Given the description of an element on the screen output the (x, y) to click on. 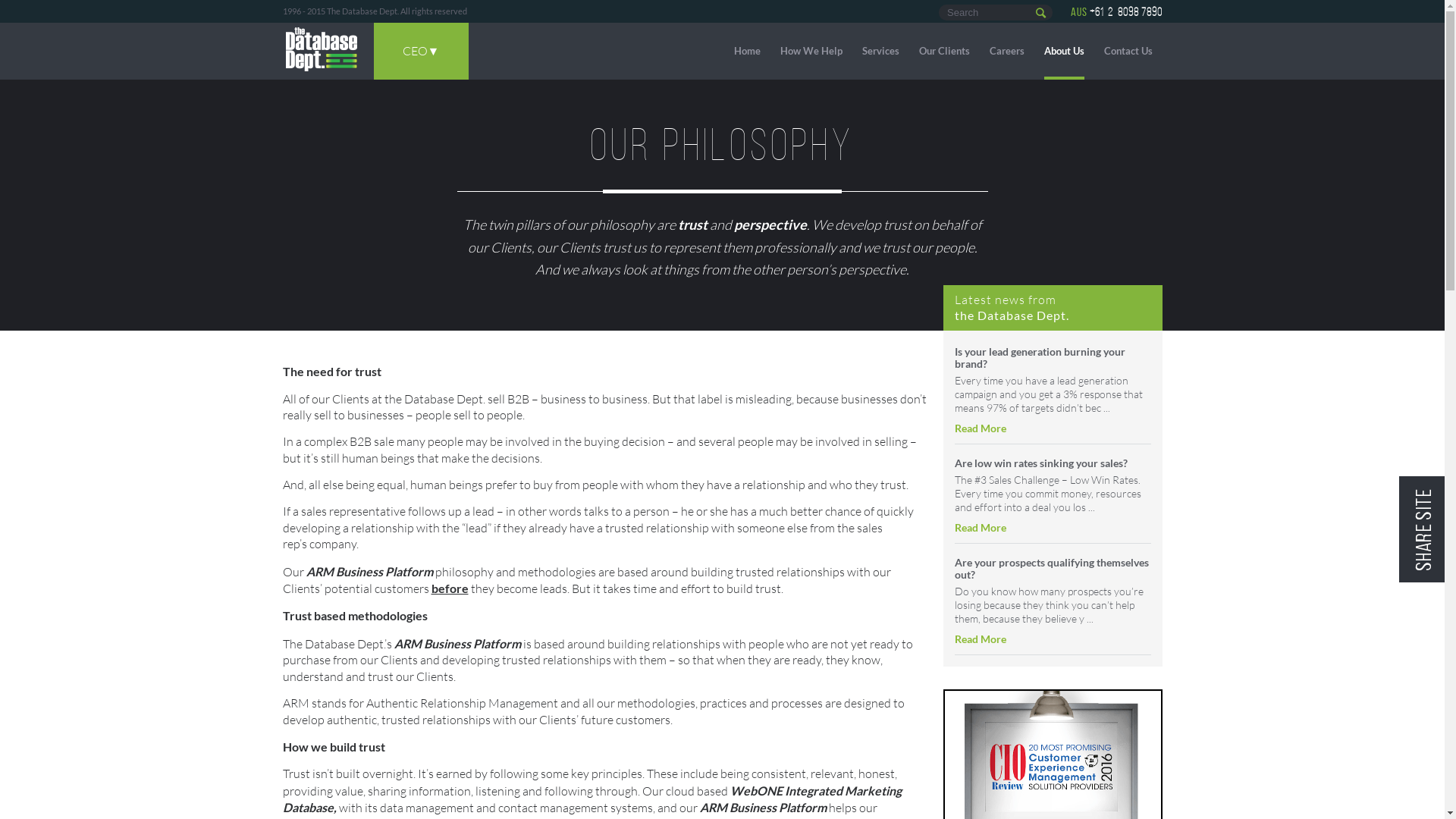
Contact Us Element type: text (1128, 50)
Read More Element type: text (979, 427)
+61  2  8098 7890 Element type: text (1124, 11)
How We Help Element type: text (810, 50)
Our Clients Element type: text (944, 50)
Read More Element type: text (979, 638)
Read More Element type: text (979, 526)
Careers Element type: text (1005, 50)
Services Element type: text (879, 50)
About Us Element type: text (1063, 50)
Home Element type: text (747, 50)
Latest news from
the Database Dept. Element type: text (1010, 306)
